Given the description of an element on the screen output the (x, y) to click on. 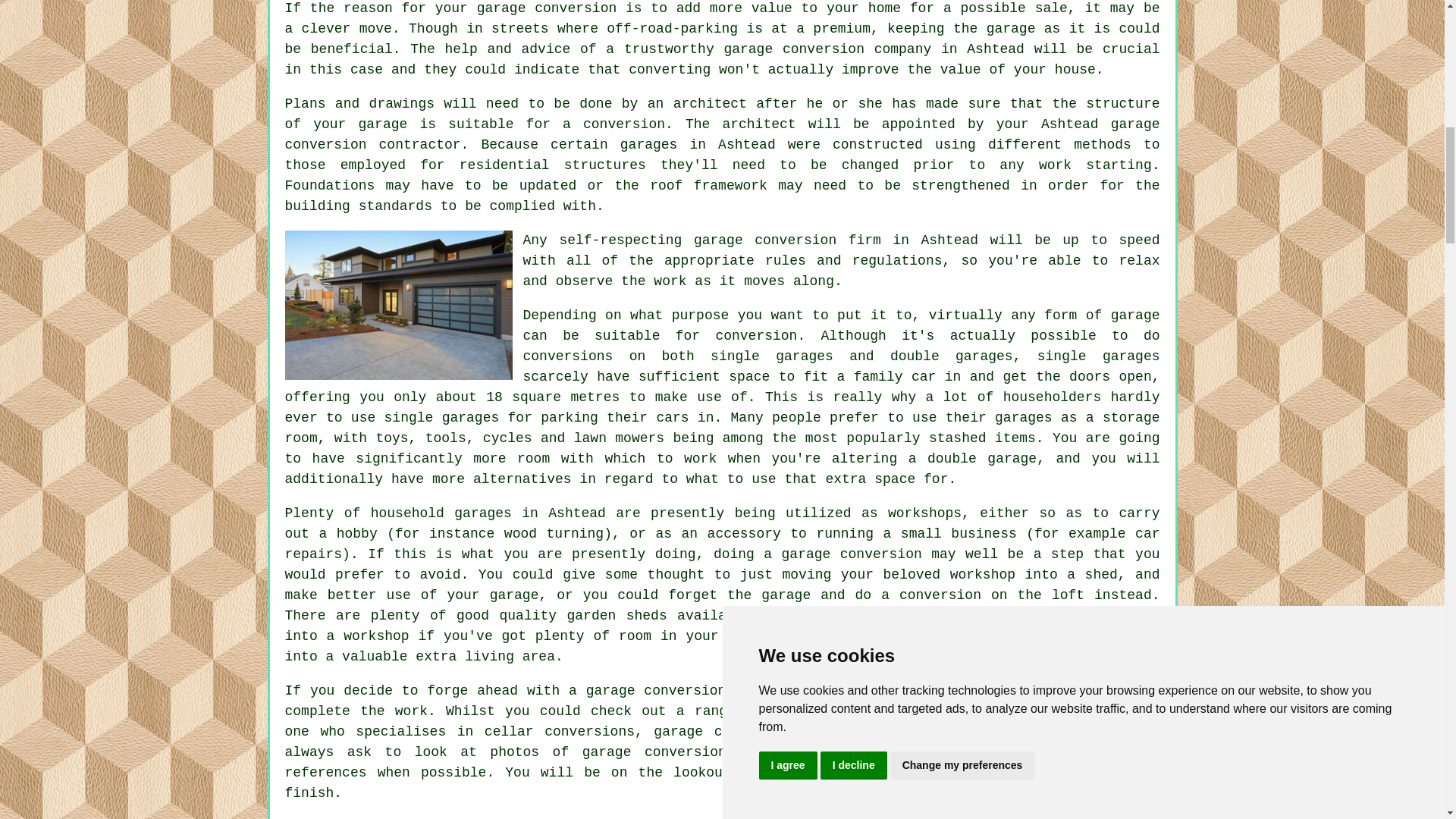
garage (1135, 314)
convert your garage (1080, 635)
a double garage (972, 458)
single garages (441, 417)
